Given the description of an element on the screen output the (x, y) to click on. 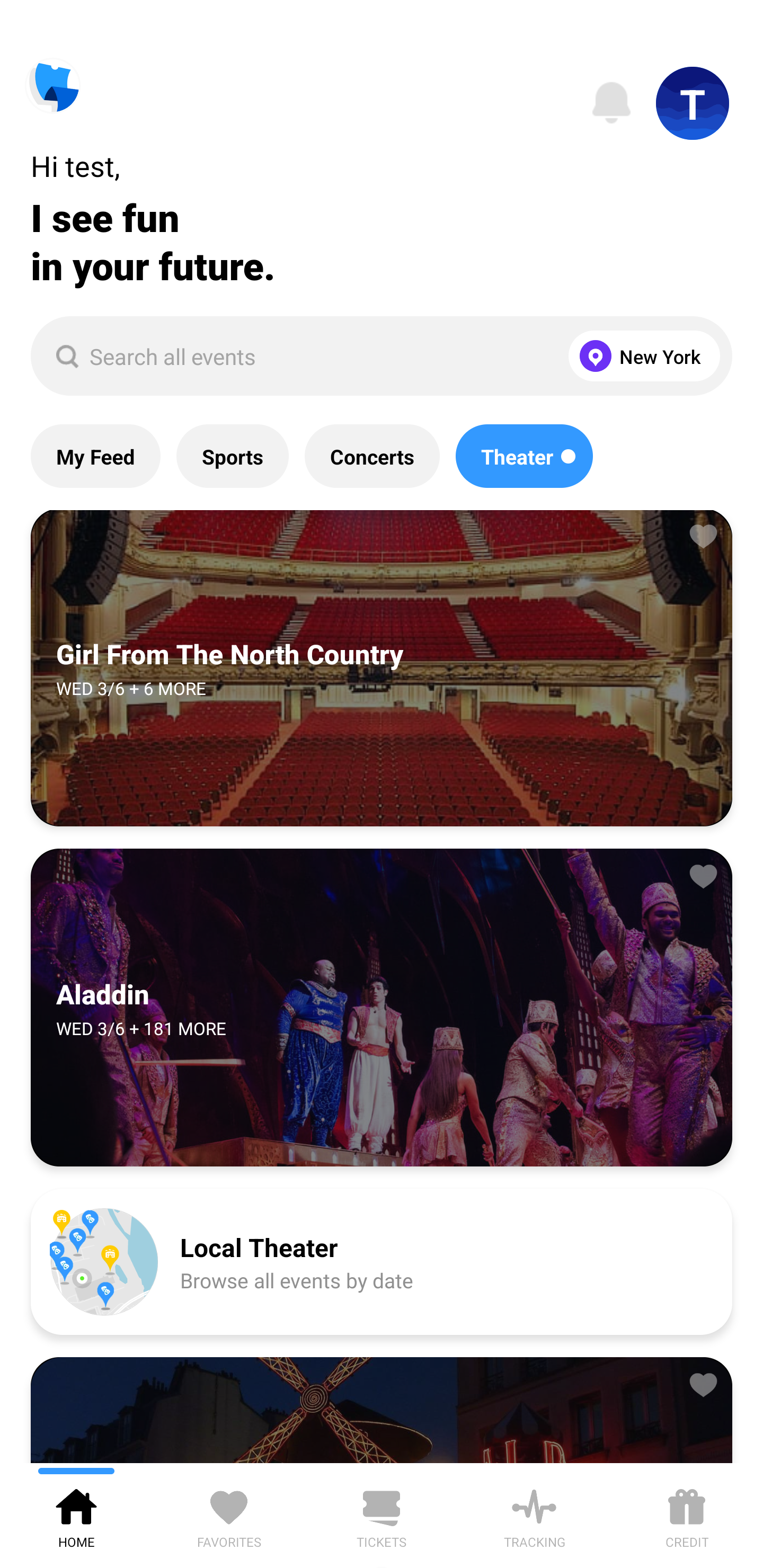
T (692, 103)
New York (640, 355)
My Feed (95, 455)
Sports (232, 455)
Concerts (371, 455)
Theater (523, 455)
HOME (76, 1515)
FAVORITES (228, 1515)
TICKETS (381, 1515)
TRACKING (533, 1515)
CREDIT (686, 1515)
